Given the description of an element on the screen output the (x, y) to click on. 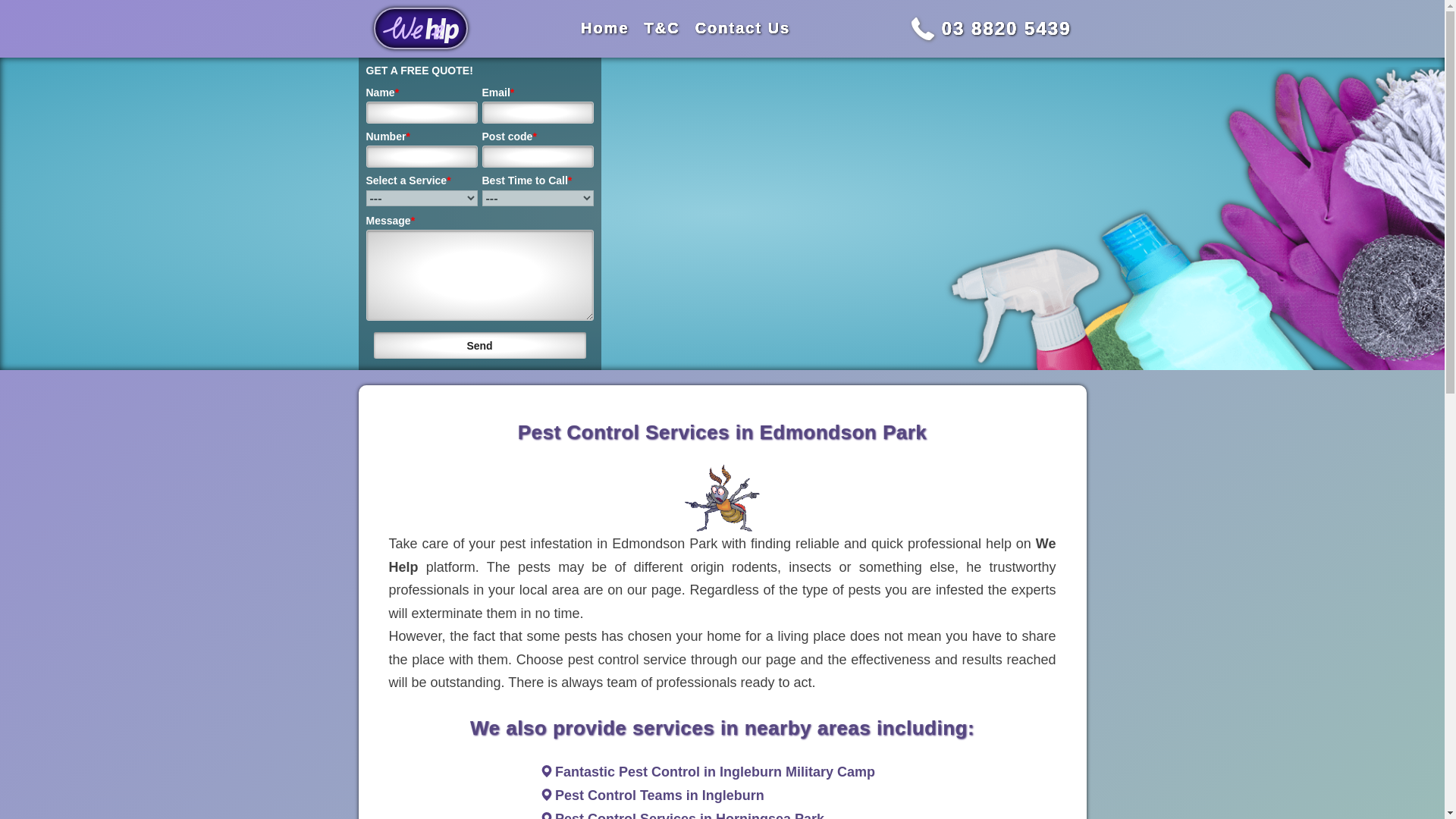
Pest Control Services in Horningsea Park (689, 815)
Home (604, 28)
Send (478, 345)
Send (478, 345)
Contact Us (742, 28)
Pest Control Teams in Ingleburn (659, 795)
03 8820 5439 (1006, 28)
Pest Control Teams in Ingleburn (659, 795)
Fantastic Pest Control in Ingleburn Military Camp (714, 771)
Pest Control Services in Horningsea Park (689, 815)
